Given the description of an element on the screen output the (x, y) to click on. 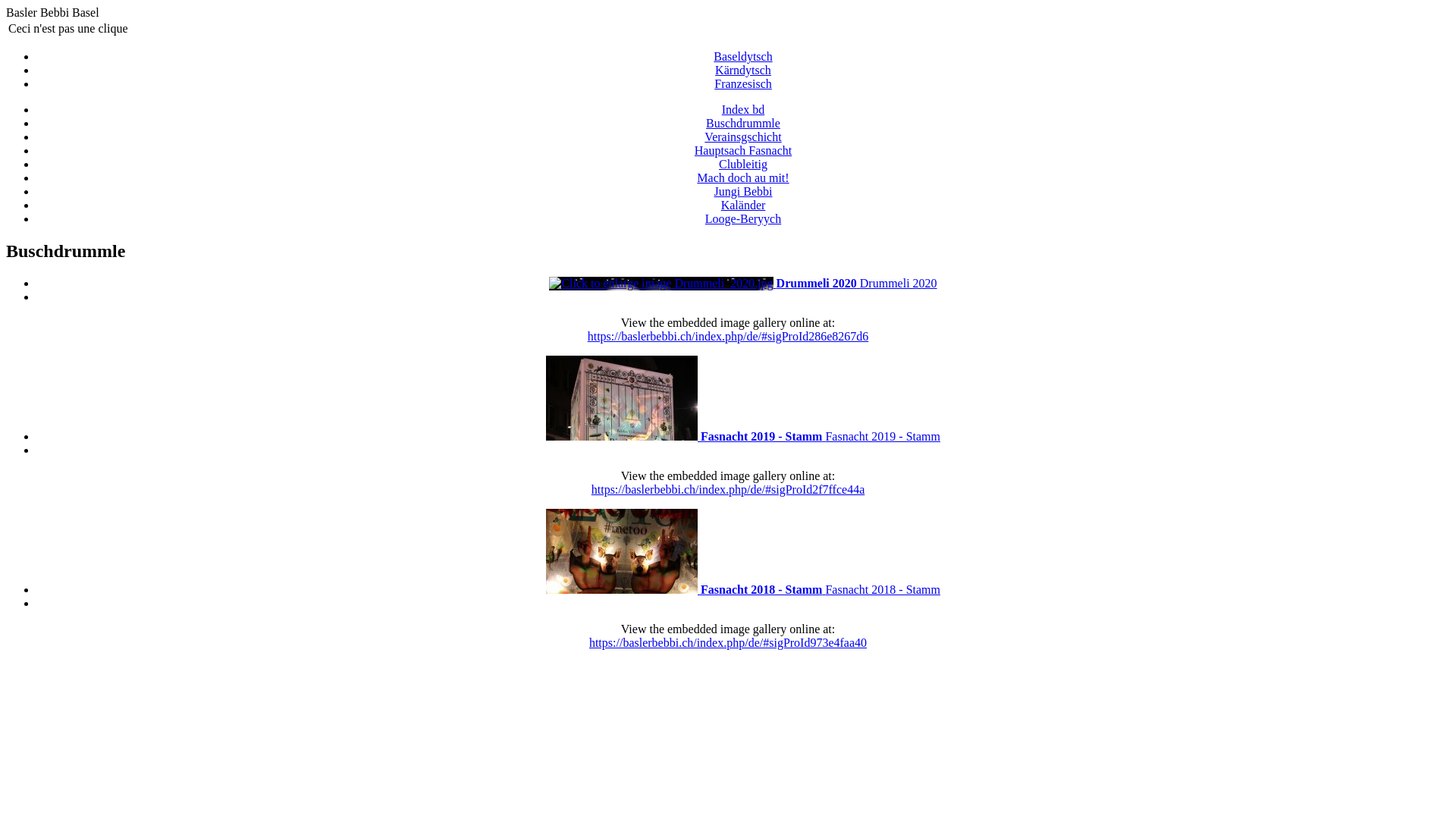
Fasnacht 2018 - Stamm Fasnacht 2018 - Stamm Element type: text (743, 589)
https://baslerbebbi.ch/index.php/de/#sigProId286e8267d6 Element type: text (728, 335)
Click to enlarge image Drummeli_2020.jpg Element type: hover (660, 283)
Click to enlarge image 01.jpeg Element type: hover (621, 397)
Looge-Beryych Element type: text (743, 218)
https://baslerbebbi.ch/index.php/de/#sigProId2f7ffce44a Element type: text (728, 489)
Index bd Element type: text (742, 109)
Jungi Bebbi Element type: text (743, 191)
Hauptsach Fasnacht Element type: text (742, 150)
Fasnacht 2019 - Stamm Fasnacht 2019 - Stamm Element type: text (743, 435)
Drummeli 2020 Drummeli 2020 Element type: text (742, 282)
Verainsgschicht Element type: text (742, 136)
Clubleitig Element type: text (742, 163)
https://baslerbebbi.ch/index.php/de/#sigProId973e4faa40 Element type: text (727, 642)
Baseldytsch Element type: text (742, 56)
Buschdrummle Element type: text (743, 122)
Click to enlarge image 01.jpg Element type: hover (621, 550)
Mach doch au mit! Element type: text (742, 177)
Franzesisch Element type: text (742, 83)
